Given the description of an element on the screen output the (x, y) to click on. 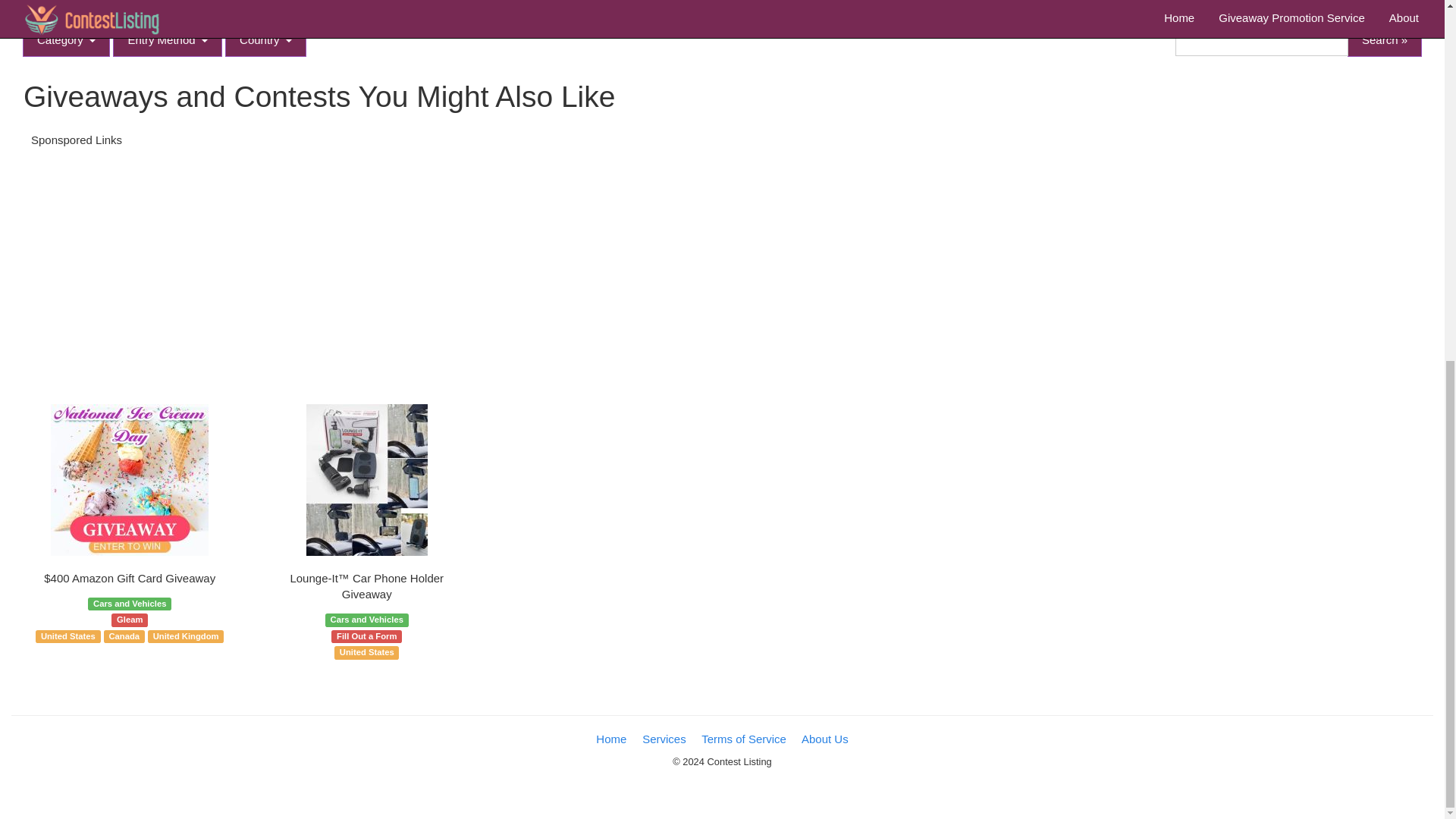
Entry Method   (167, 39)
Category   (66, 39)
Country   (265, 39)
